Given the description of an element on the screen output the (x, y) to click on. 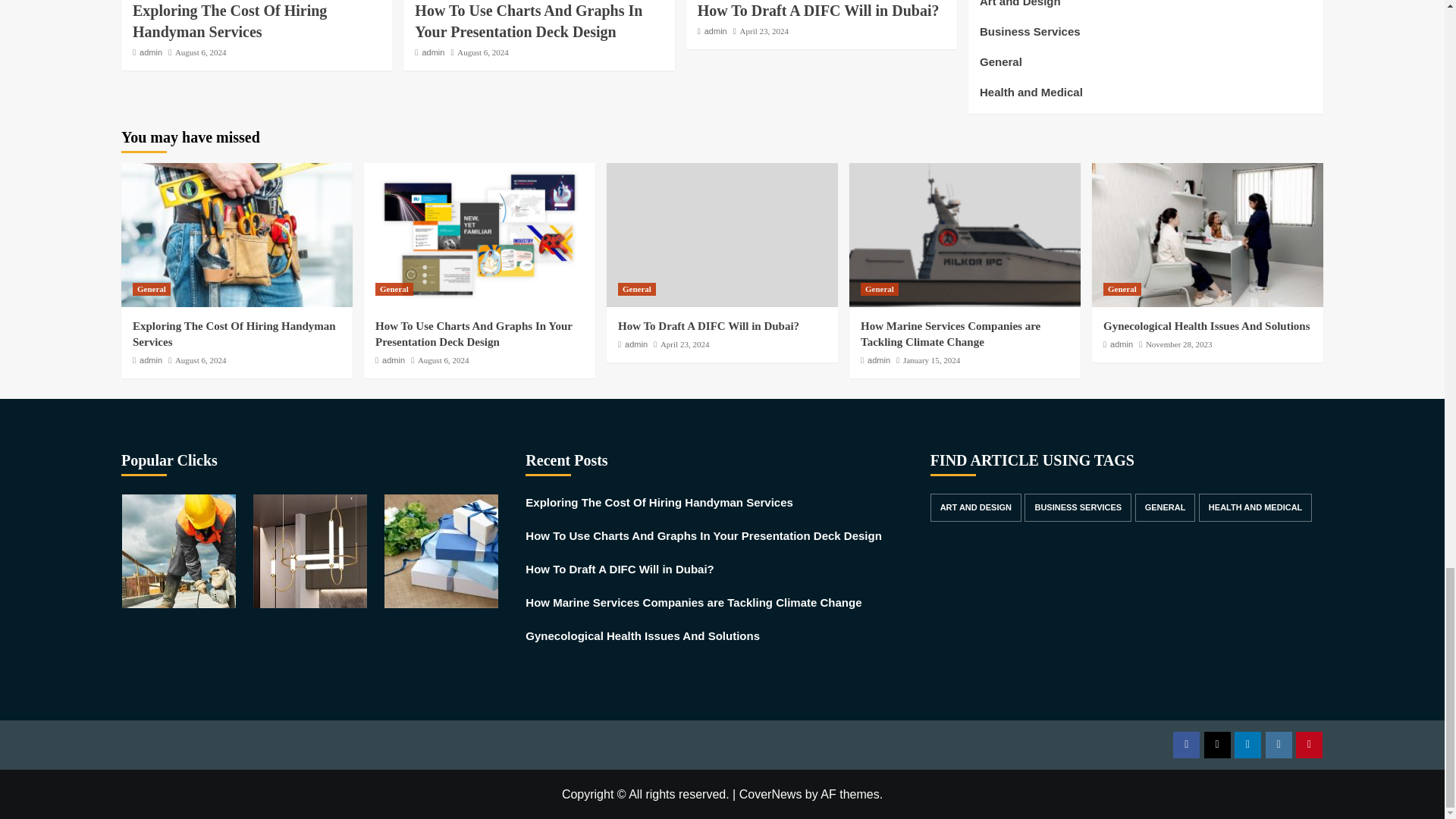
Exploring The Cost Of Hiring Handyman Services (229, 21)
admin (715, 31)
April 23, 2024 (764, 31)
admin (433, 51)
August 6, 2024 (482, 51)
admin (150, 51)
August 6, 2024 (200, 51)
How To Draft A DIFC Will in Dubai? (818, 10)
